Given the description of an element on the screen output the (x, y) to click on. 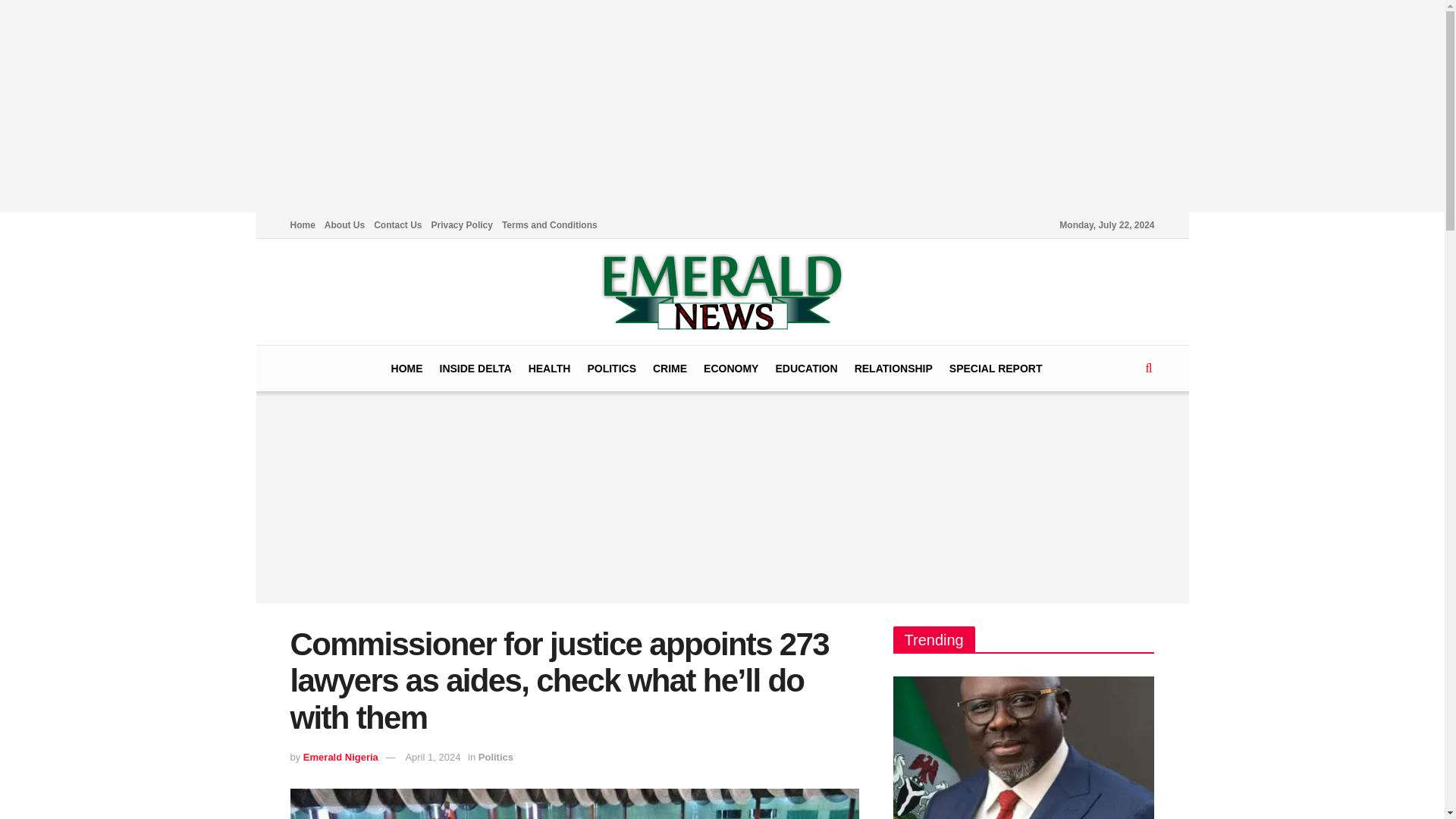
April 1, 2024 (432, 756)
SPECIAL REPORT (995, 368)
RELATIONSHIP (893, 368)
Contact Us (398, 225)
EDUCATION (805, 368)
HOME (407, 368)
HEALTH (549, 368)
Politics (496, 756)
Terms and Conditions (549, 225)
ECONOMY (730, 368)
Privacy Policy (461, 225)
INSIDE DELTA (475, 368)
Emerald Nigeria (340, 756)
CRIME (669, 368)
POLITICS (611, 368)
